Given the description of an element on the screen output the (x, y) to click on. 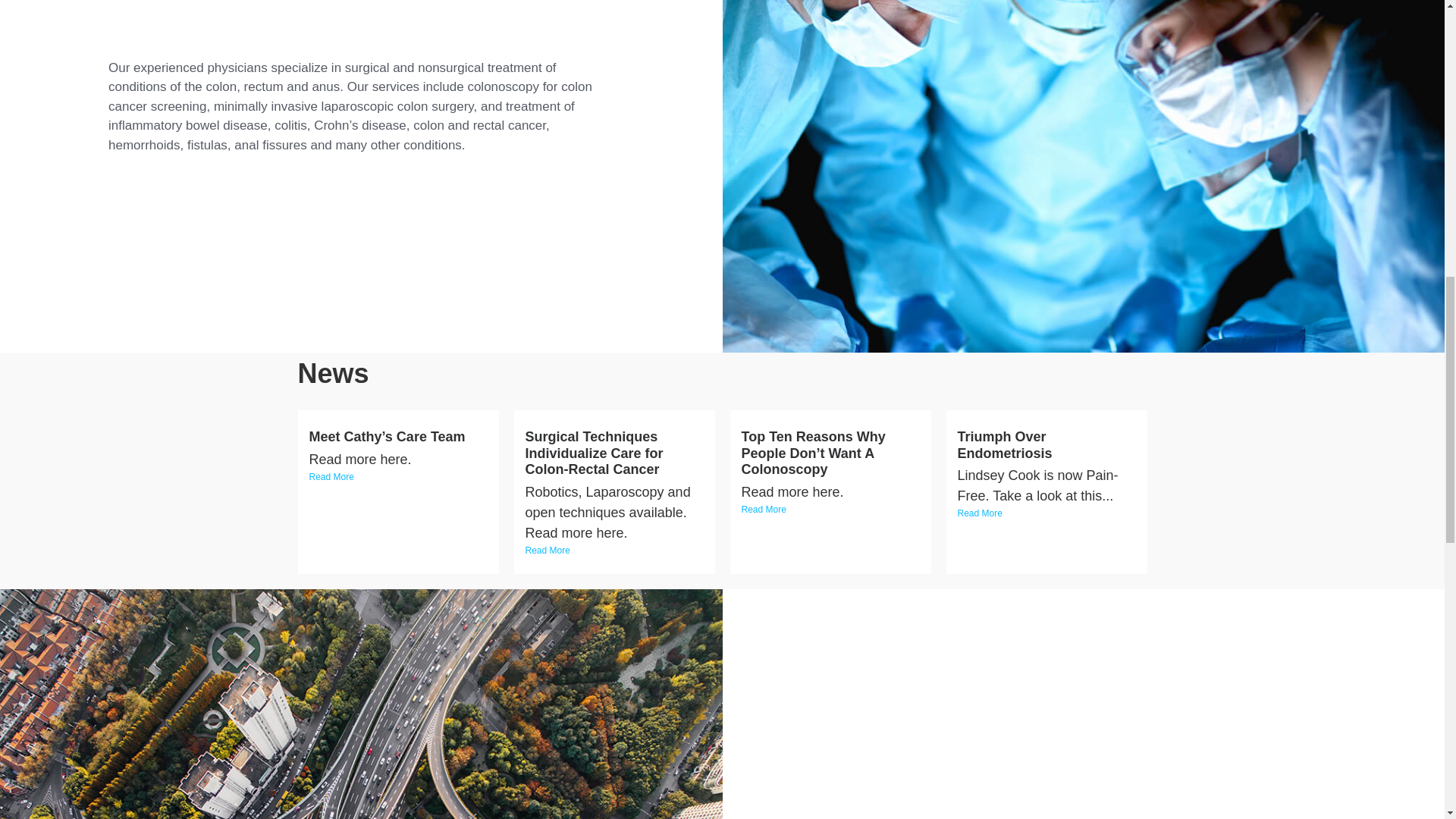
Read More (613, 550)
Read More (397, 477)
Triumph Over Endometriosis (1003, 445)
Read More (1045, 513)
Read More (830, 509)
Triumph Over Endometriosis (1003, 445)
